Given the description of an element on the screen output the (x, y) to click on. 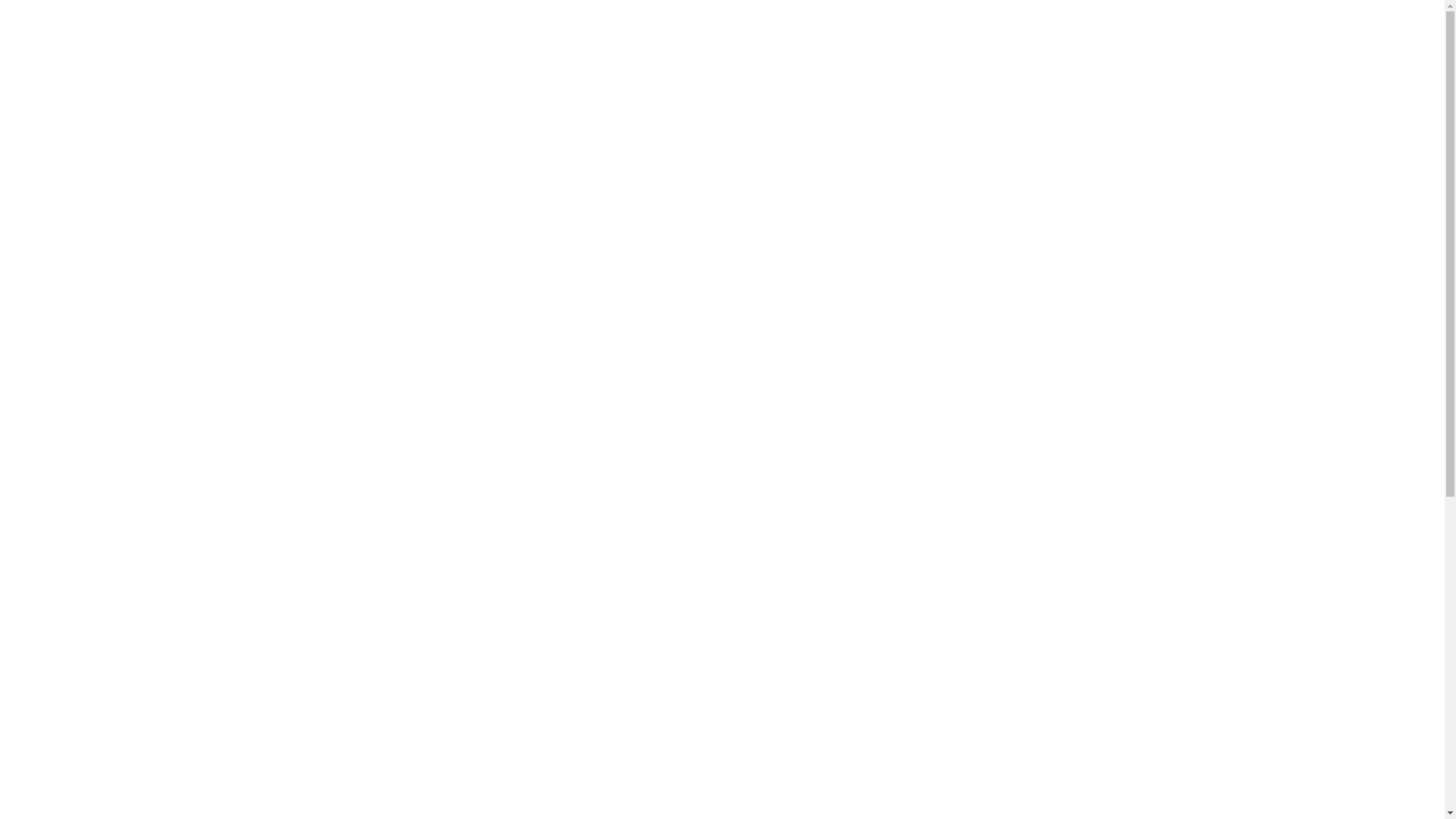
EMAIL:
a-potolkof@yandex.by Element type: text (1037, 41)
